Given the description of an element on the screen output the (x, y) to click on. 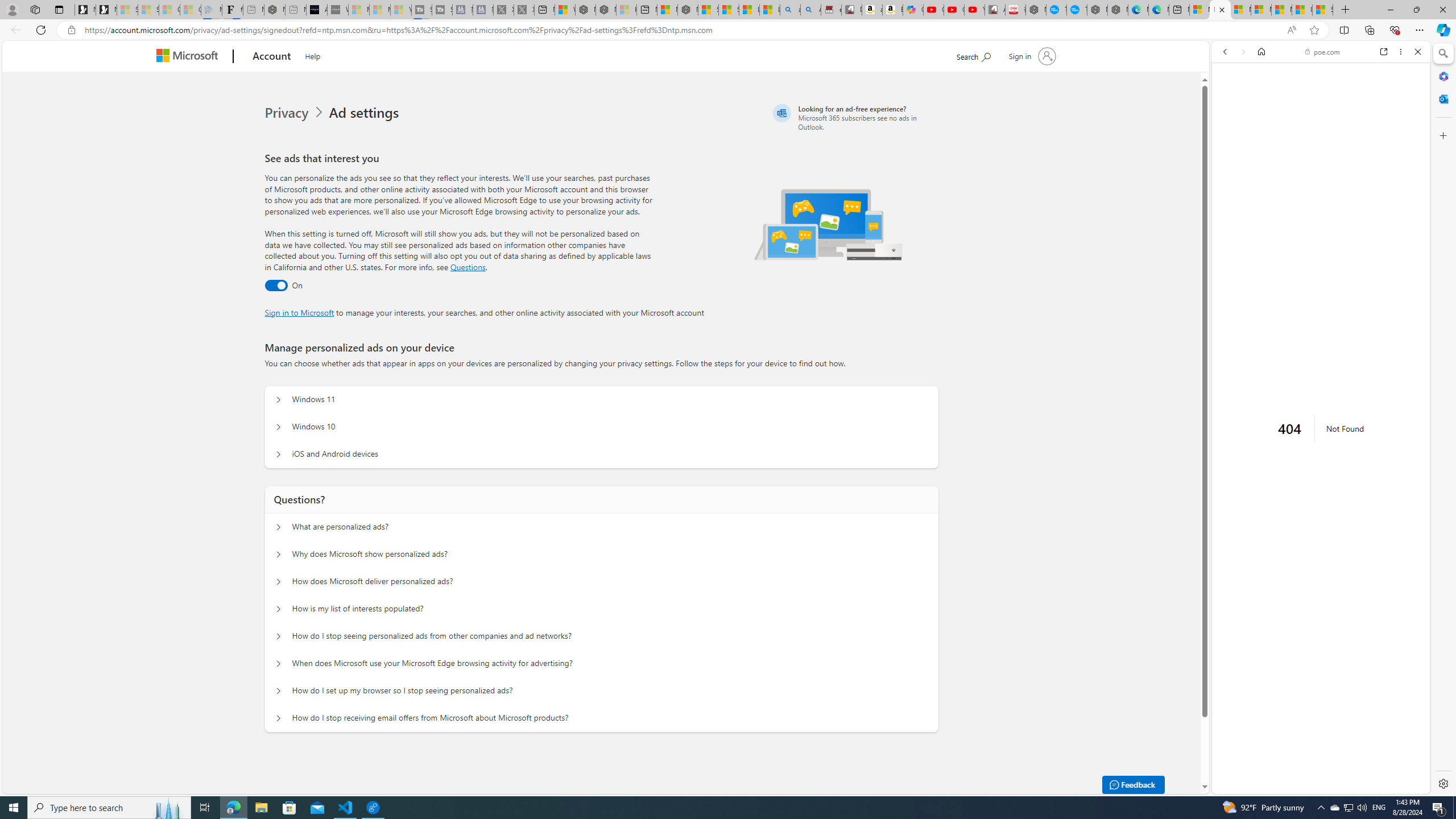
Sign in to your account (1031, 55)
VIDEOS (1300, 130)
IMAGES (1262, 130)
Illustration of multiple devices (829, 224)
Nordace - My Account (1035, 9)
